Given the description of an element on the screen output the (x, y) to click on. 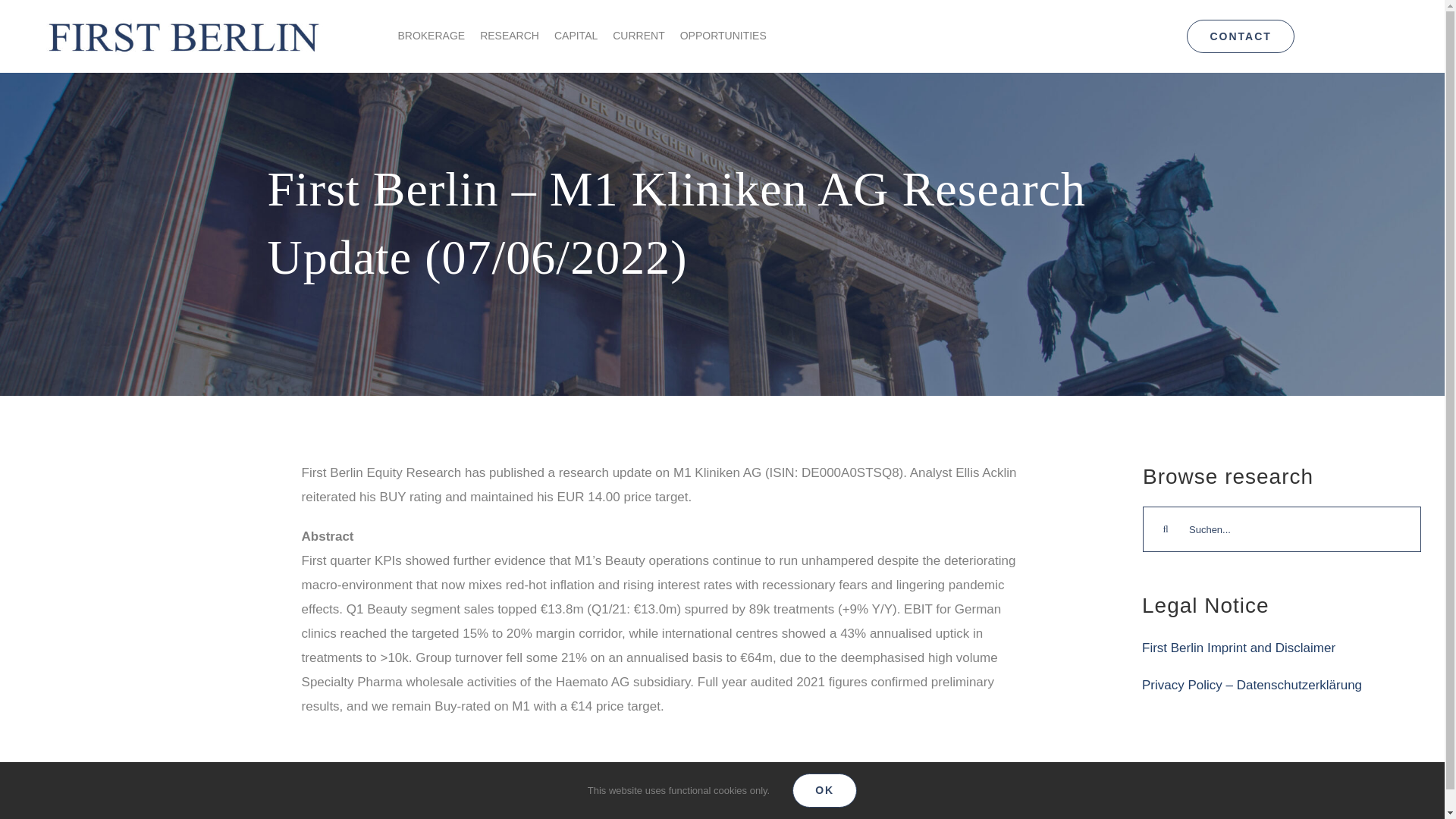
CONTACT (1240, 36)
CAPITAL (576, 36)
OPPORTUNITIES (723, 36)
CURRENT (638, 36)
OK (824, 790)
BROKERAGE (430, 36)
RESEARCH (509, 36)
First Berlin Imprint and Disclaimer (1238, 647)
